Given the description of an element on the screen output the (x, y) to click on. 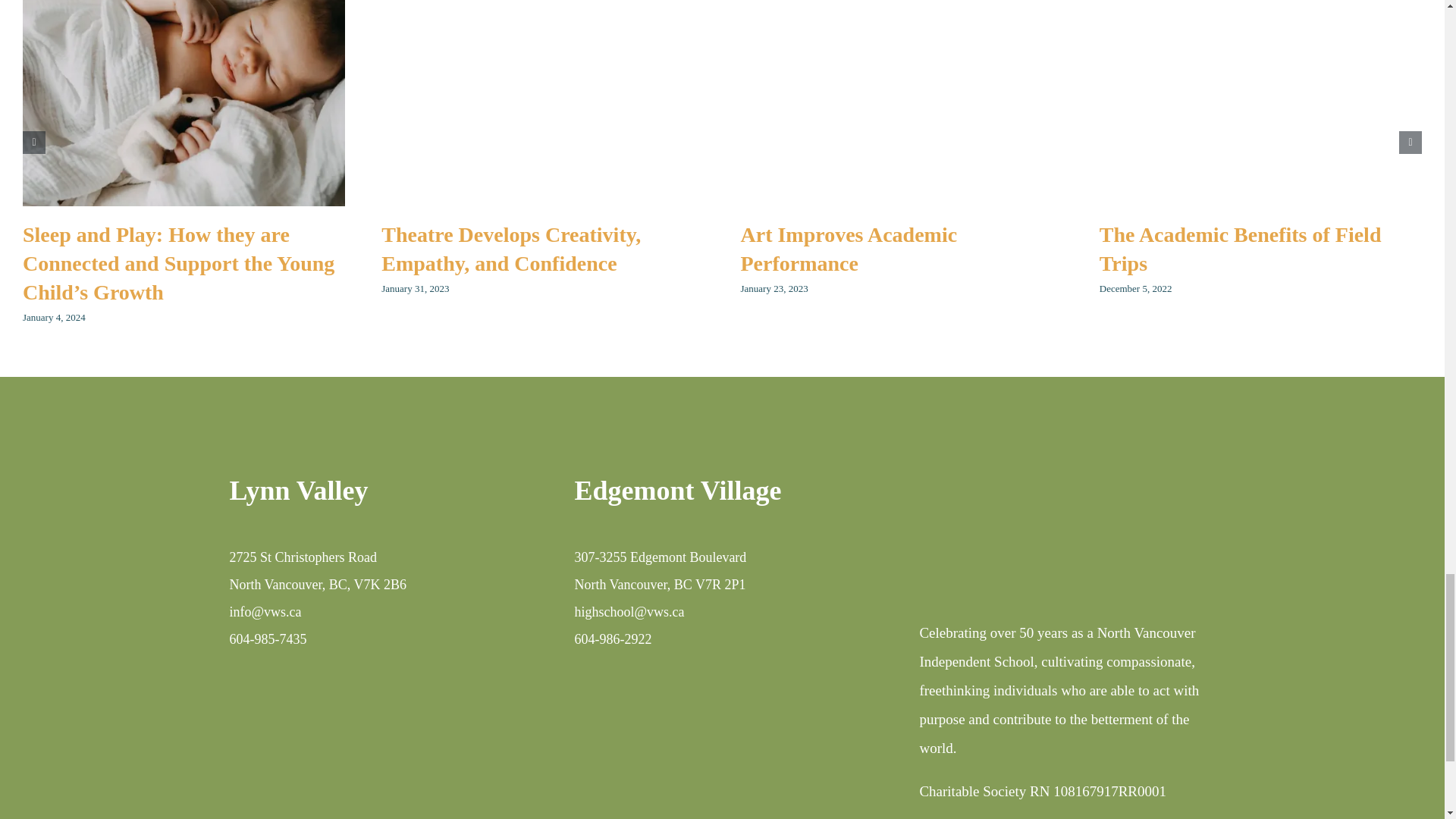
Theatre Develops Creativity, Empathy, and Confidence (510, 248)
The Academic Benefits of Field Trips (1240, 248)
